Given the description of an element on the screen output the (x, y) to click on. 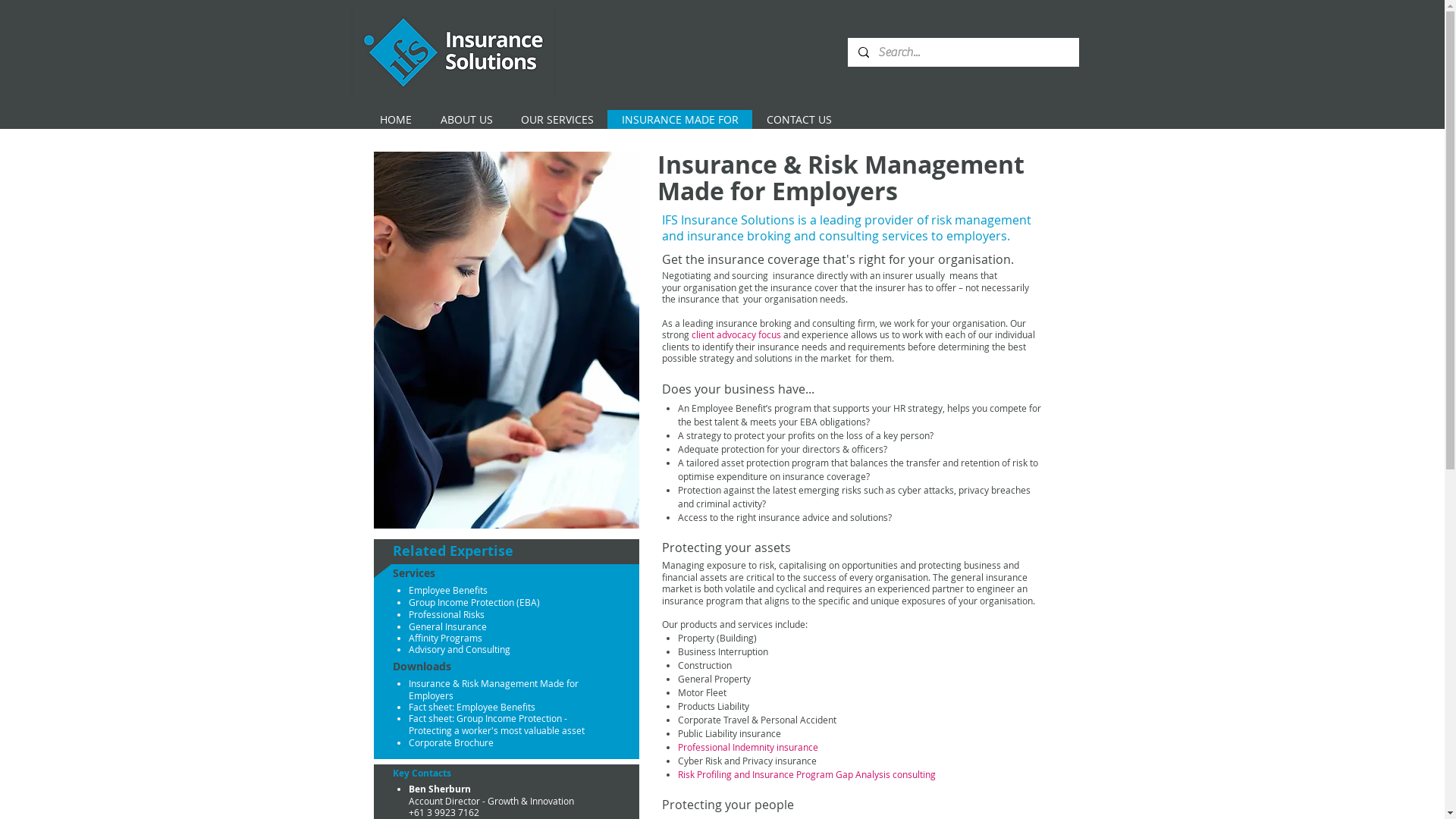
HOME Element type: text (395, 118)
focus Element type: text (769, 334)
ABOUT US Element type: text (466, 118)
General Insurance Element type: text (447, 626)
iStock_000009022984Large[1].jpg Element type: hover (505, 339)
Risk Profiling and Insurance Program Gap Analysis consulting Element type: text (806, 774)
Professional Indemnity insurance Element type: text (747, 746)
Insurance & Risk Management Made for Employers Element type: text (493, 689)
Group Income Protection (EBA) Element type: text (473, 602)
Employee Benefits Element type: text (447, 589)
Professional Risks Element type: text (446, 614)
Advisory and Consulting Element type: text (459, 649)
client advocacy Element type: text (724, 334)
Corporate Brochure Element type: text (450, 742)
Fact sheet: Employee Benefits Element type: text (471, 706)
INSURANCE MADE FOR Element type: text (678, 118)
OUR SERVICES Element type: text (556, 118)
Affinity Programs Element type: text (445, 637)
CONTACT US Element type: text (798, 118)
